Given the description of an element on the screen output the (x, y) to click on. 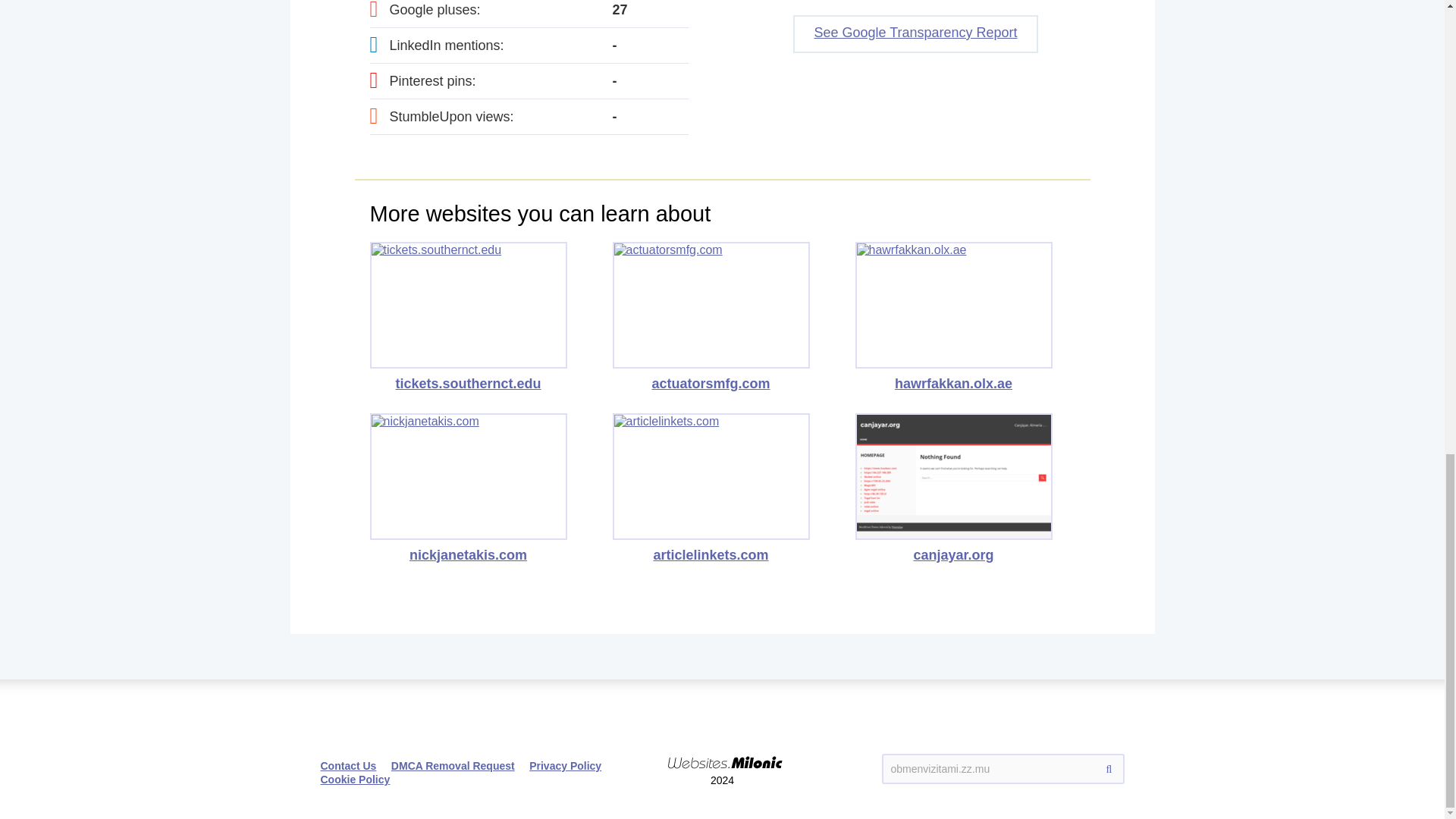
actuatorsmfg.com (710, 316)
Cookie Policy (355, 779)
tickets.southernct.edu (468, 316)
obmenvizitami.zz.mu (1002, 768)
DMCA Removal Request (453, 766)
articlelinkets.com (710, 488)
hawrfakkan.olx.ae (954, 316)
2024 (721, 750)
Privacy Policy (565, 766)
nickjanetakis.com (468, 488)
Contact Us (347, 766)
canjayar.org (954, 488)
See Google Transparency Report (914, 34)
